Given the description of an element on the screen output the (x, y) to click on. 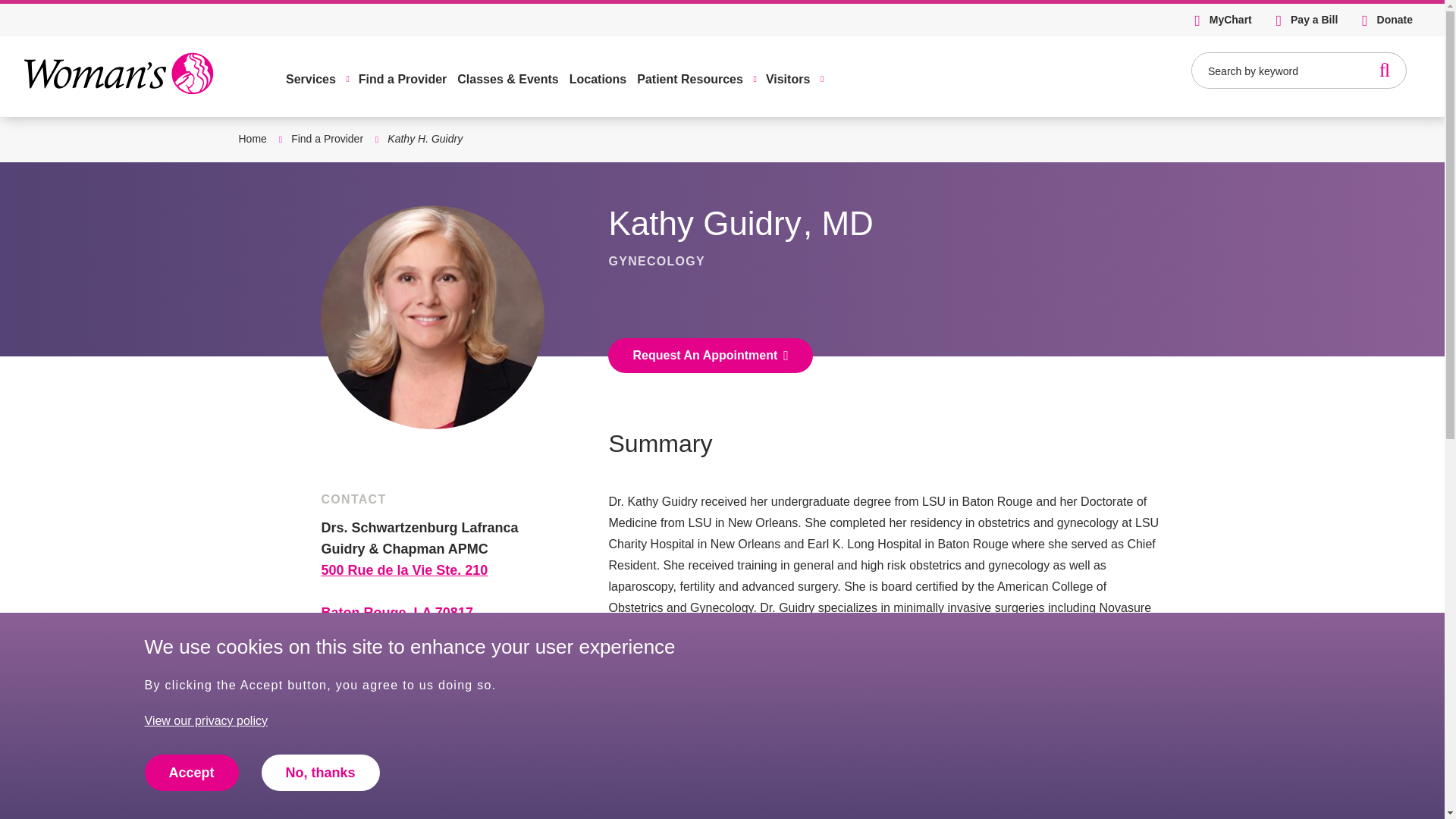
Services (310, 76)
Find a Provider (402, 76)
Search (1384, 70)
Pay a Bill (1314, 19)
Locations (598, 76)
MyChart (1230, 19)
Donate (1394, 19)
